Given the description of an element on the screen output the (x, y) to click on. 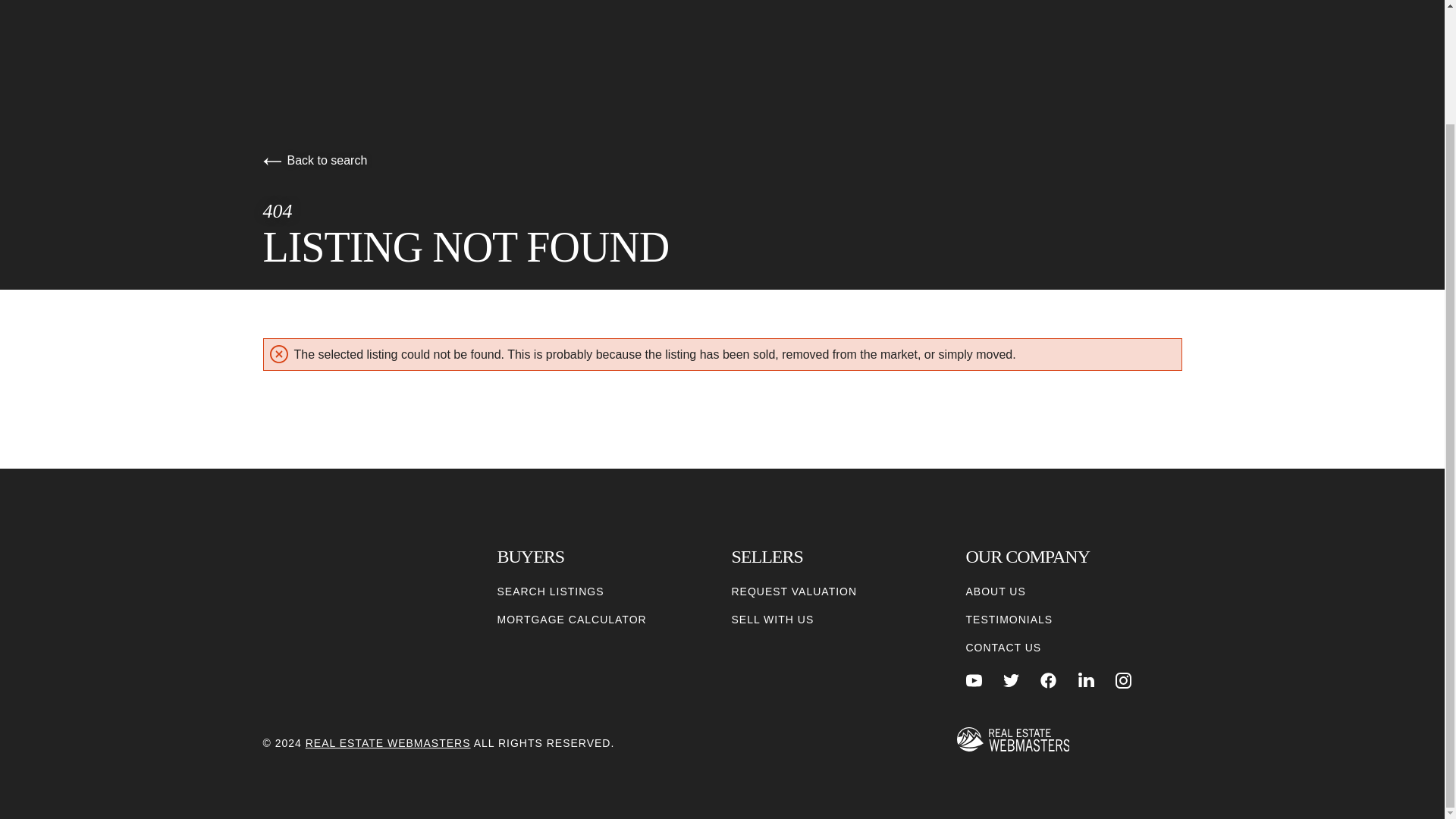
Back to search (314, 160)
FACEBOOK (1049, 680)
SEARCH LISTINGS (550, 591)
LINKEDIN (1086, 680)
MORTGAGE CALCULATOR (571, 619)
REQUEST VALUATION (793, 591)
YOUTUBE (973, 680)
TWITTER (1011, 680)
